Given the description of an element on the screen output the (x, y) to click on. 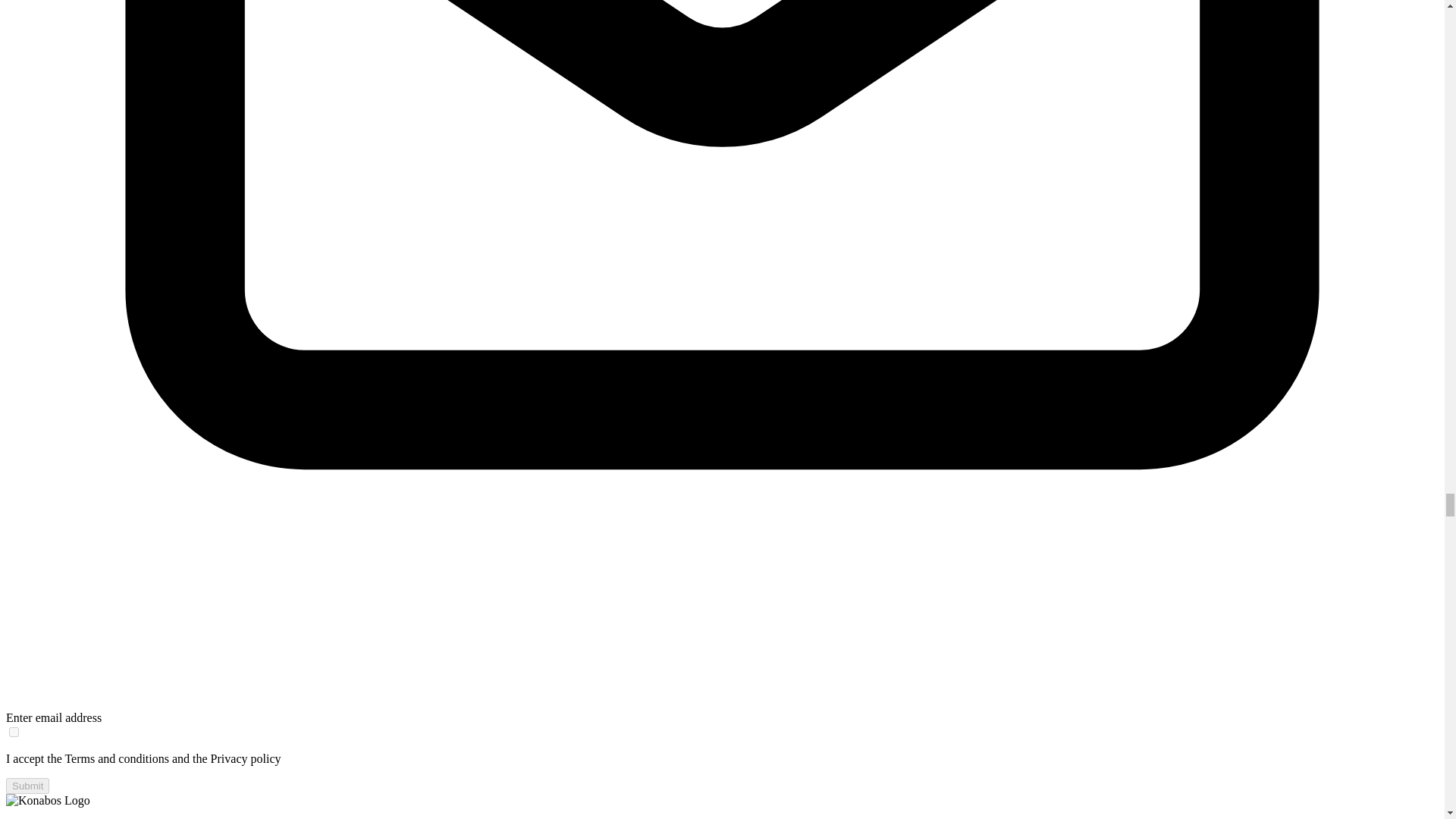
on (13, 732)
Konabos Logo (47, 800)
Submit (27, 785)
